Given the description of an element on the screen output the (x, y) to click on. 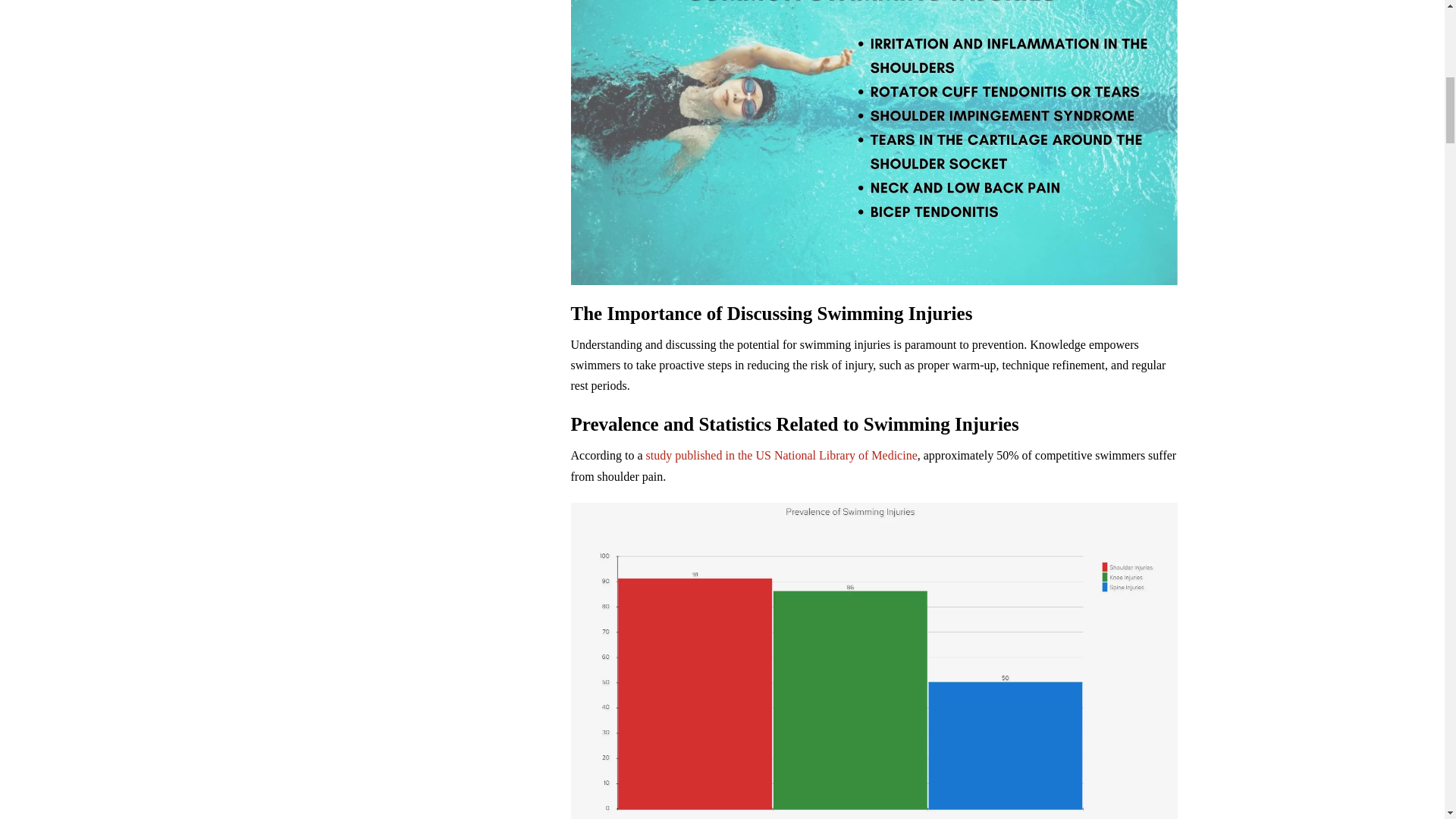
study published in the US National Library of Medicine (781, 454)
